Given the description of an element on the screen output the (x, y) to click on. 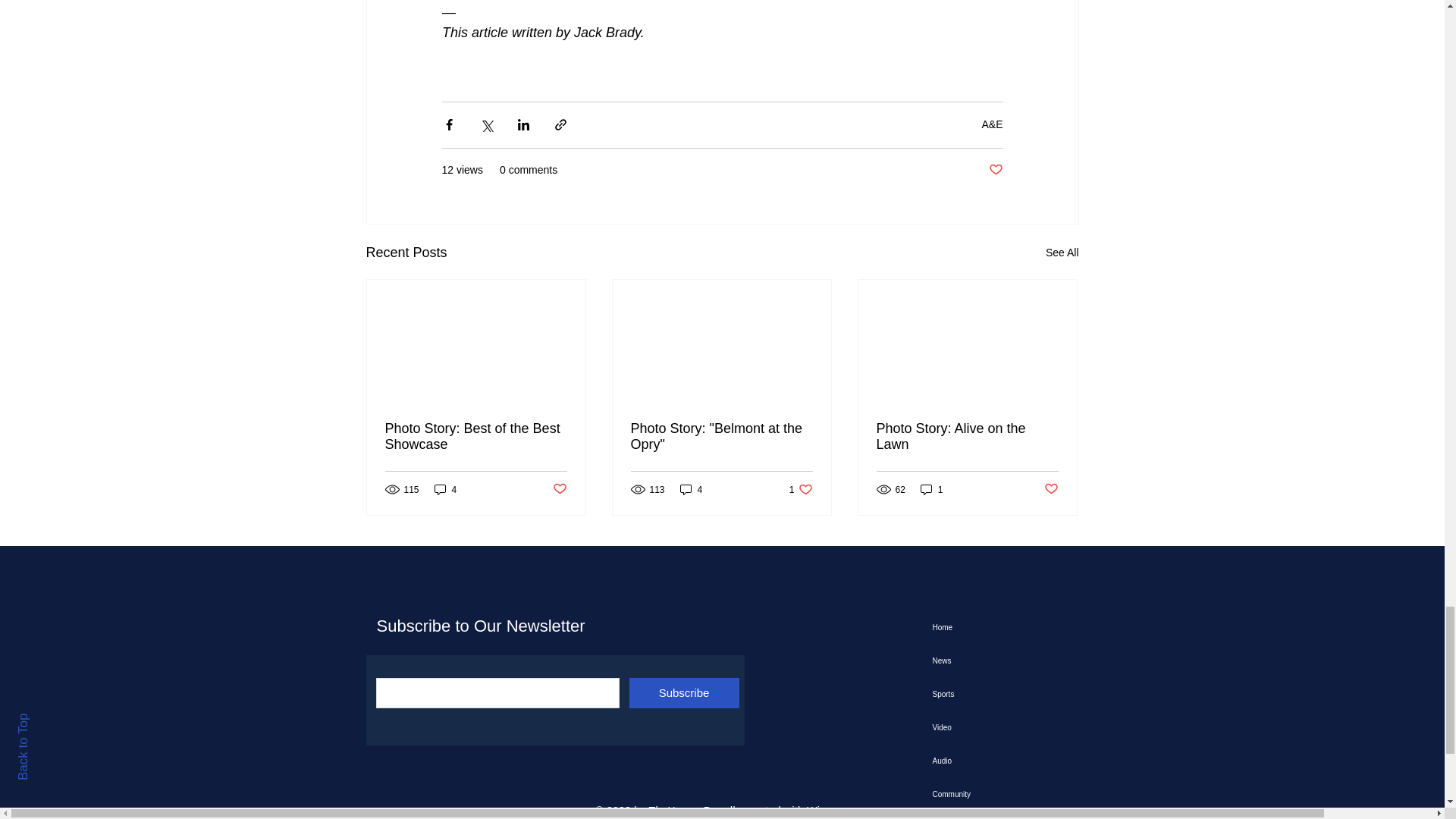
Post not marked as liked (995, 170)
